Given the description of an element on the screen output the (x, y) to click on. 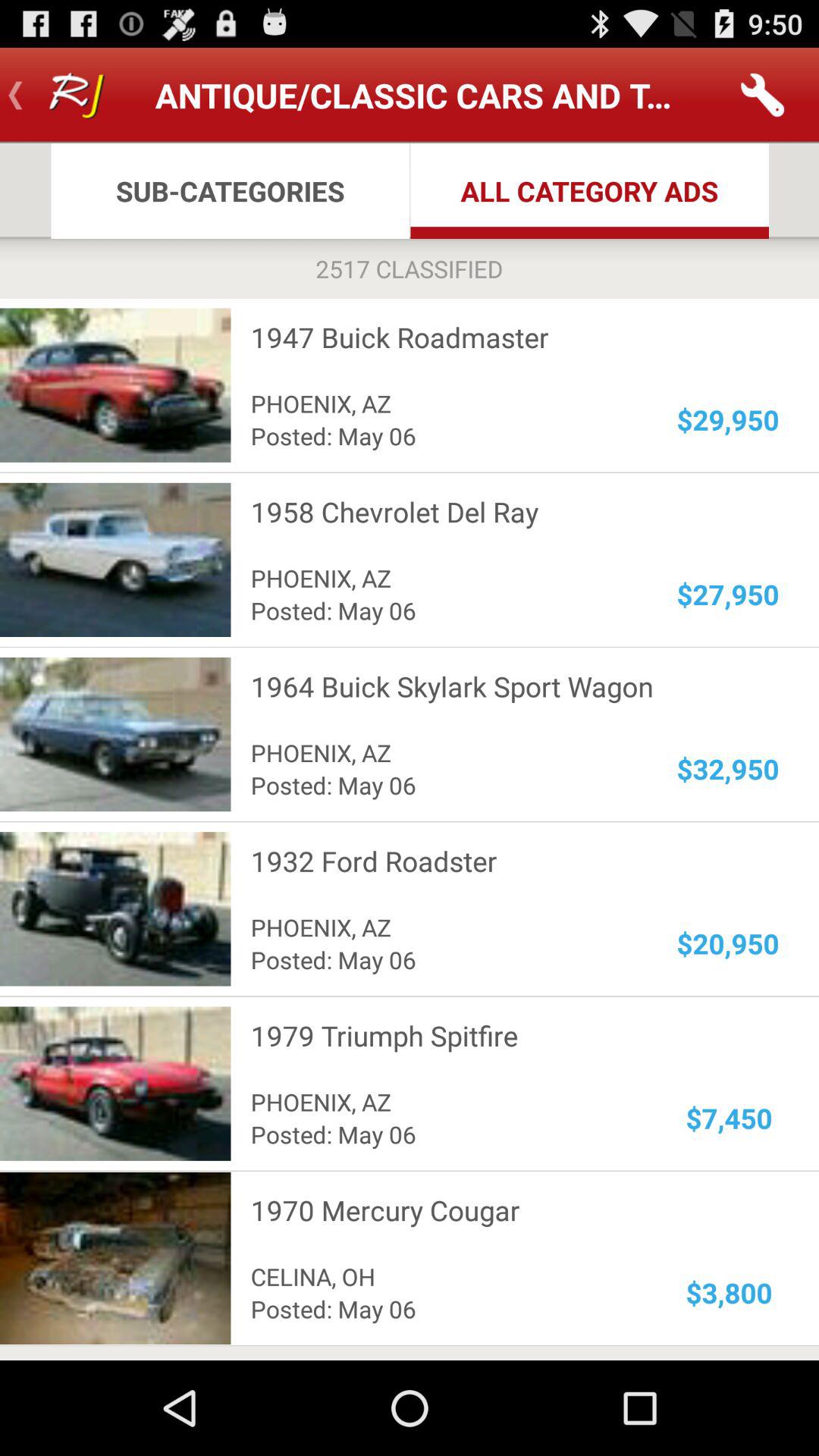
open app below the posted: may 06 icon (504, 1210)
